Given the description of an element on the screen output the (x, y) to click on. 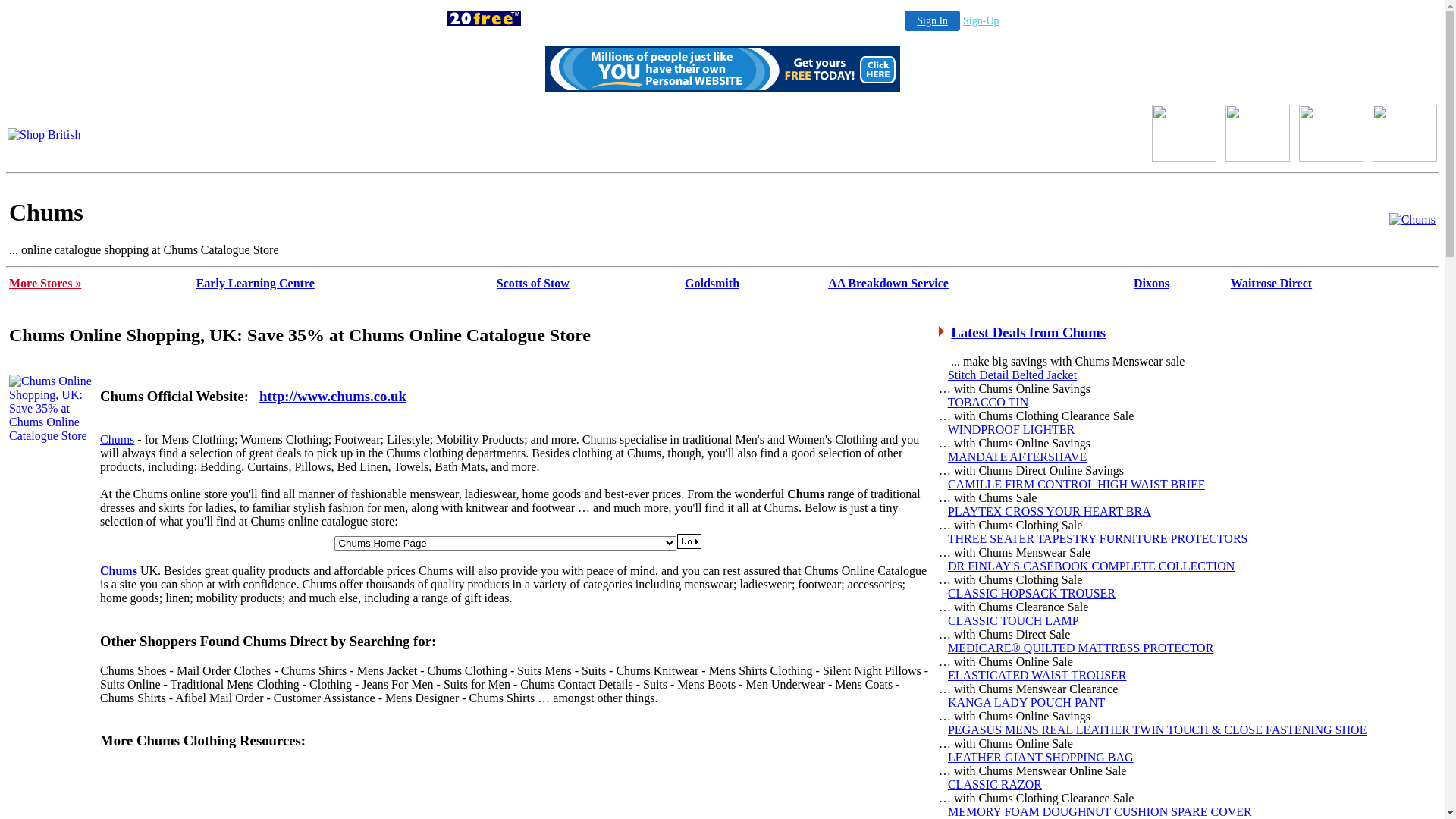
TOBACCO TIN Element type: text (988, 401)
PEGASUS MENS REAL LEATHER TWIN TOUCH & CLOSE FASTENING SHOE Element type: text (1156, 729)
Latest Deals from Chums Element type: text (1027, 332)
Sign In Element type: text (932, 20)
Chums Catalogue Element type: hover (1412, 219)
Submit Element type: text (689, 541)
AA Breakdown Service Element type: text (888, 282)
Chums Element type: text (117, 439)
Shop British Element type: hover (1183, 156)
Scotts of Stow Element type: text (532, 282)
CLASSIC HOPSACK TROUSER Element type: text (1031, 592)
Stitch Detail Belted Jacket Element type: text (1011, 374)
Chums Element type: hover (1412, 219)
CLASSIC RAZOR Element type: text (994, 784)
MANDATE AFTERSHAVE Element type: text (1016, 456)
Dixons Element type: text (1151, 282)
MEMORY FOAM DOUGHNUT CUSHION SPARE COVER Element type: text (1099, 811)
THREE SEATER TAPESTRY FURNITURE PROTECTORS Element type: text (1097, 538)
Shop British Element type: hover (43, 133)
LEATHER GIANT SHOPPING BAG Element type: text (1040, 756)
Sign-Up Element type: text (980, 20)
KANGA LADY POUCH PANT Element type: text (1025, 702)
Early Learning Centre Element type: text (255, 282)
DR FINLAY'S CASEBOOK COMPLETE COLLECTION Element type: text (1090, 565)
http://www.chums.co.uk Element type: text (332, 396)
CAMILLE FIRM CONTROL HIGH WAIST BRIEF Element type: text (1075, 483)
Chums Element type: text (118, 570)
CLASSIC TOUCH LAMP Element type: text (1013, 620)
Chums Direct Element type: hover (722, 134)
PLAYTEX CROSS YOUR HEART BRA Element type: text (1049, 511)
Goldsmith Element type: text (711, 282)
ELASTICATED WAIST TROUSER Element type: text (1036, 674)
Waitrose Direct Element type: text (1270, 282)
WINDPROOF LIGHTER Element type: text (1011, 429)
